Given the description of an element on the screen output the (x, y) to click on. 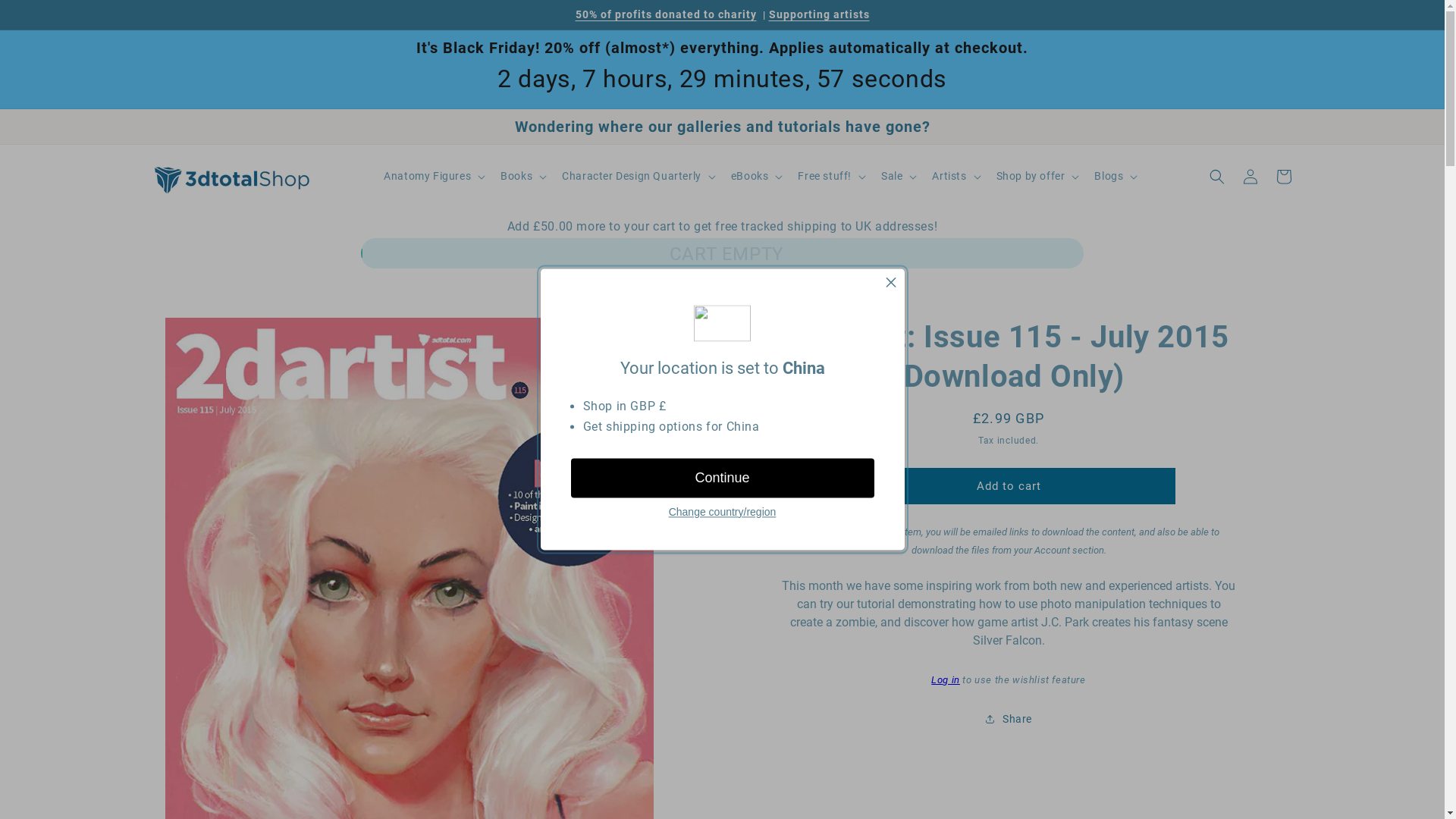
Log in Element type: text (1249, 176)
50% of profits donated to charity Element type: text (665, 14)
Continue Element type: text (721, 477)
Cart Element type: text (1282, 176)
Wondering where our galleries and tutorials have gone? Element type: text (722, 126)
Skip to product information Element type: text (175, 316)
Log in Element type: text (945, 679)
Change country/region Element type: text (722, 512)
Supporting artists Element type: text (818, 14)
Add to cart Element type: text (1008, 485)
